Given the description of an element on the screen output the (x, y) to click on. 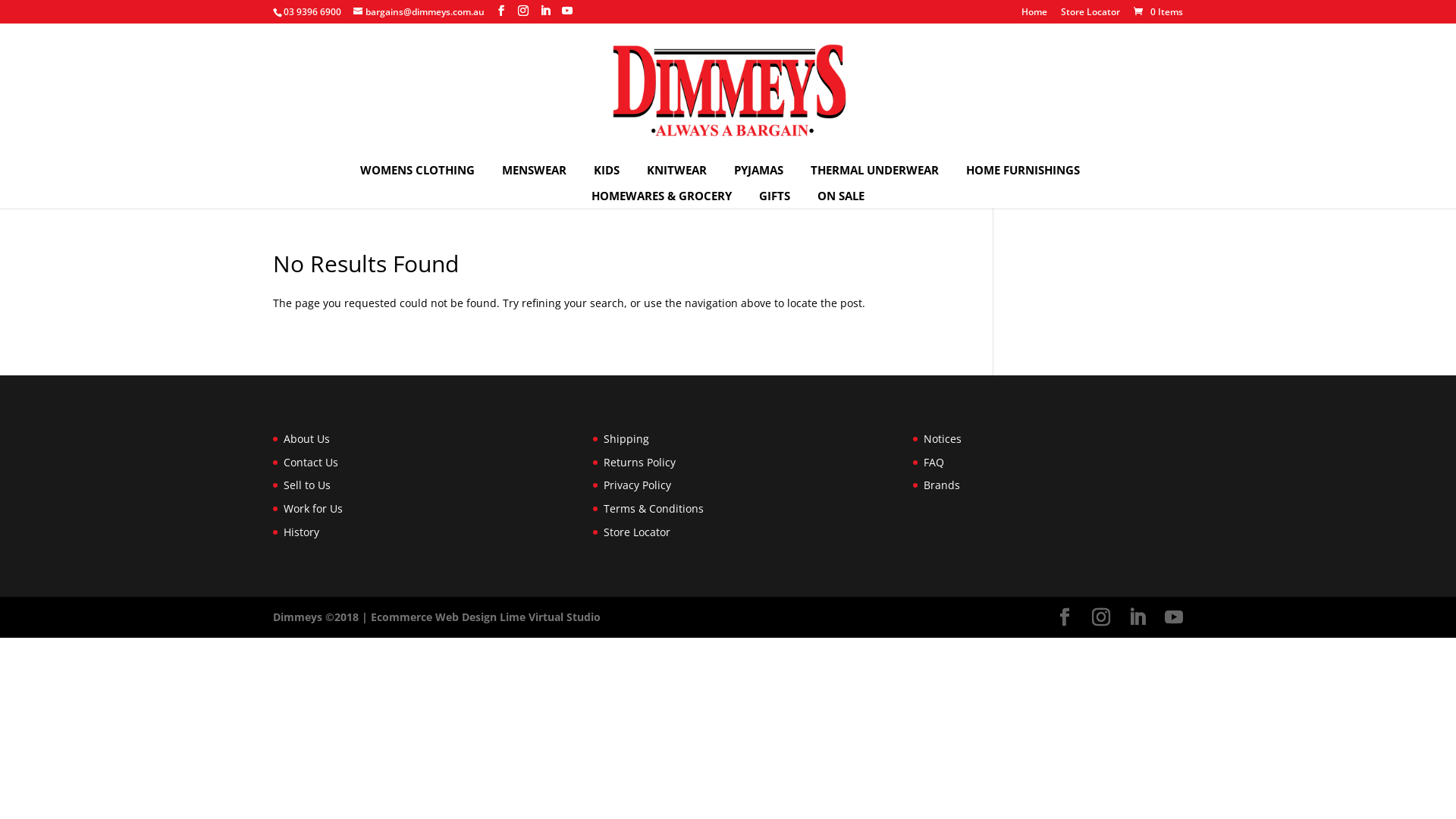
HOME FURNISHINGS Element type: text (1022, 169)
MENSWEAR Element type: text (534, 169)
Shipping Element type: text (626, 438)
PYJAMAS Element type: text (758, 169)
Contact Us Element type: text (310, 462)
History Element type: text (301, 531)
ON SALE Element type: text (840, 195)
Privacy Policy Element type: text (637, 484)
03 9396 6900 Element type: text (312, 11)
KIDS Element type: text (605, 169)
GIFTS Element type: text (774, 195)
bargains@dimmeys.com.au Element type: text (418, 11)
Ecommerce Web Design Lime Virtual Studio Element type: text (485, 616)
Sell to Us Element type: text (306, 484)
FAQ Element type: text (933, 462)
WOMENS CLOTHING Element type: text (416, 169)
Home Element type: text (1034, 15)
Work for Us Element type: text (312, 508)
0 Items Element type: text (1157, 11)
Returns Policy Element type: text (639, 462)
KNITWEAR Element type: text (675, 169)
THERMAL UNDERWEAR Element type: text (873, 169)
Terms & Conditions Element type: text (653, 508)
Brands Element type: text (941, 484)
Notices Element type: text (942, 438)
Store Locator Element type: text (1090, 15)
About Us Element type: text (306, 438)
HOMEWARES & GROCERY Element type: text (661, 195)
Store Locator Element type: text (636, 531)
